Given the description of an element on the screen output the (x, y) to click on. 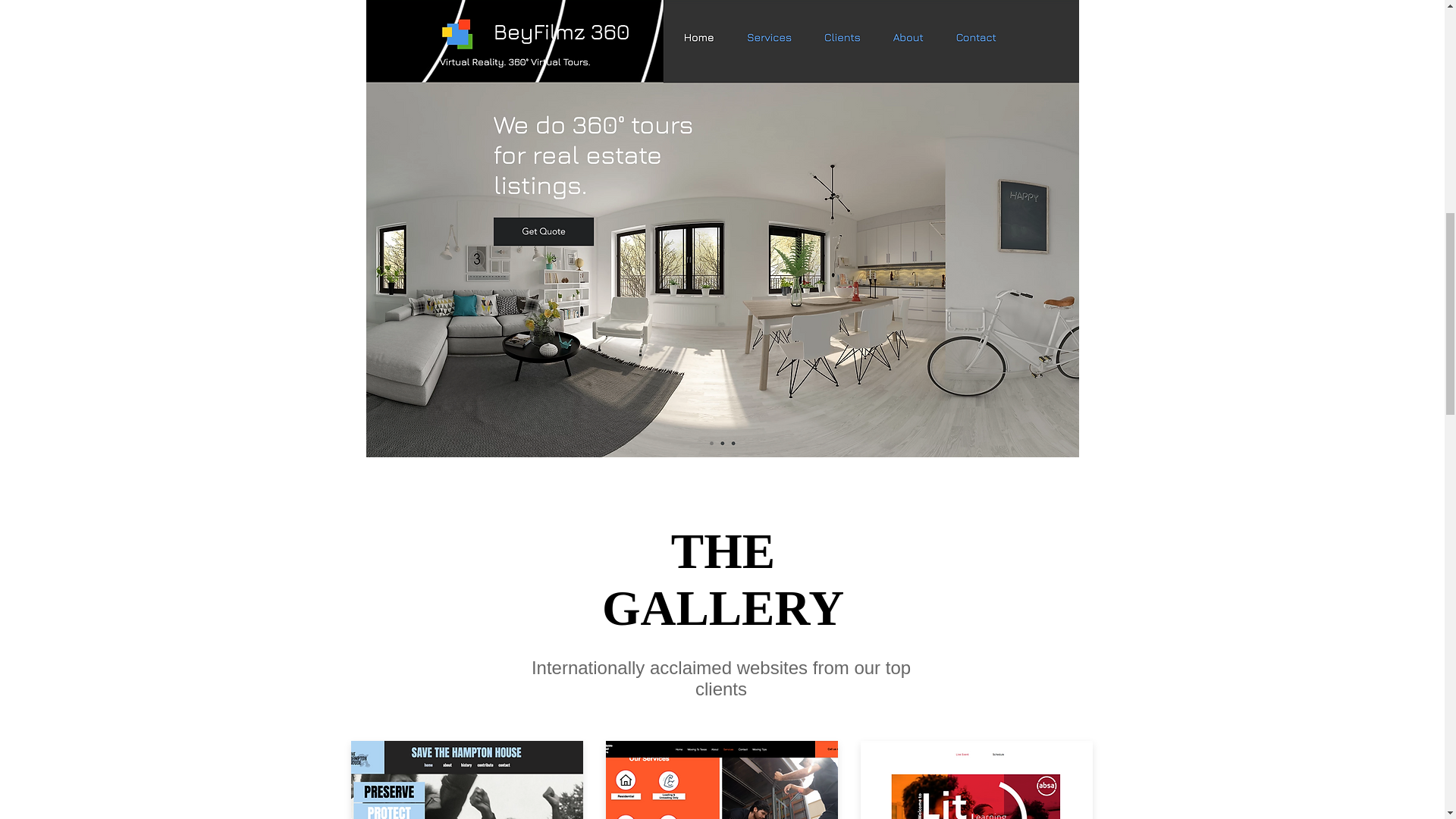
Screen Shot 2021-03-30 at 3.00.33 PM.png (466, 780)
Screen Shot 2021-03-30 at 2.49.55 PM.png (976, 780)
Screen Shot 2021-03-30 at 3.42.42 PM.png (721, 780)
